Given the description of an element on the screen output the (x, y) to click on. 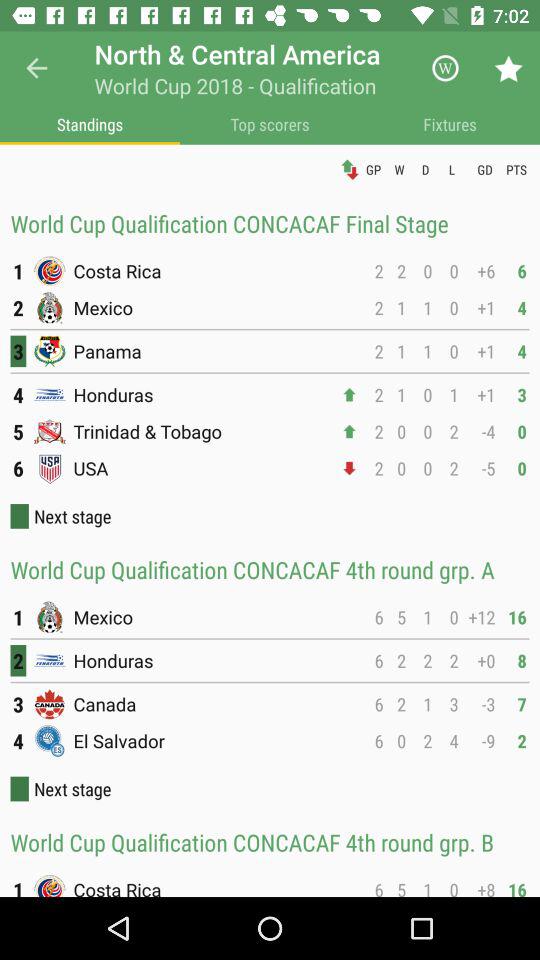
click item above fixtures app (444, 67)
